Given the description of an element on the screen output the (x, y) to click on. 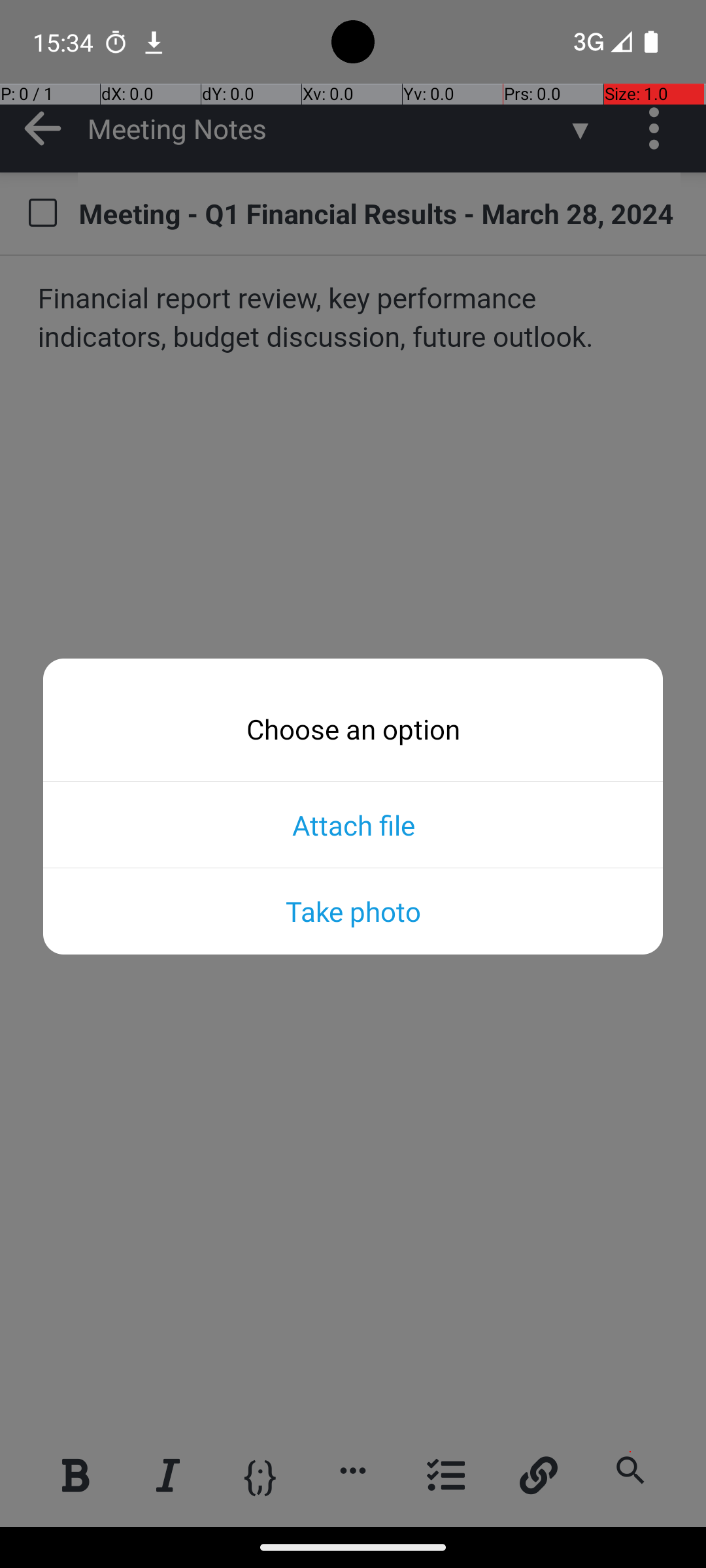
Choose an option Element type: android.widget.TextView (353, 728)
Board Meeting - Q1 Financial Results - March 28, 2024 Element type: android.widget.EditText (378, 213)
Attach file Element type: android.widget.TextView (352, 824)
Financial report review, key performance indicators, budget discussion, future outlook. Element type: android.widget.EditText (354, 318)
